Given the description of an element on the screen output the (x, y) to click on. 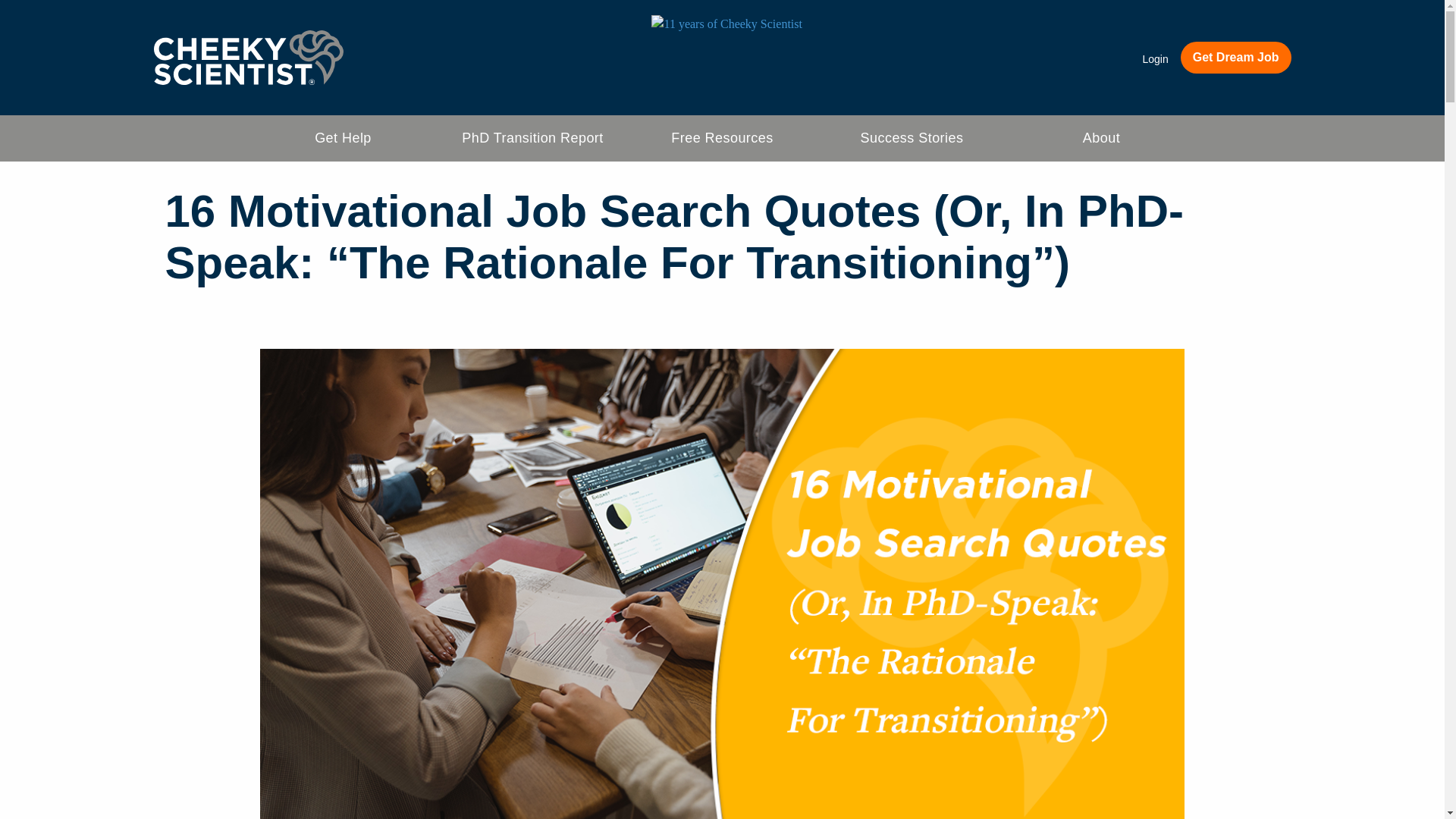
Login (1154, 59)
Get Help (343, 138)
PhD Transition Report (532, 138)
About (1101, 138)
Success Stories (911, 138)
Get Dream Job (1235, 57)
Free Resources (721, 138)
